Given the description of an element on the screen output the (x, y) to click on. 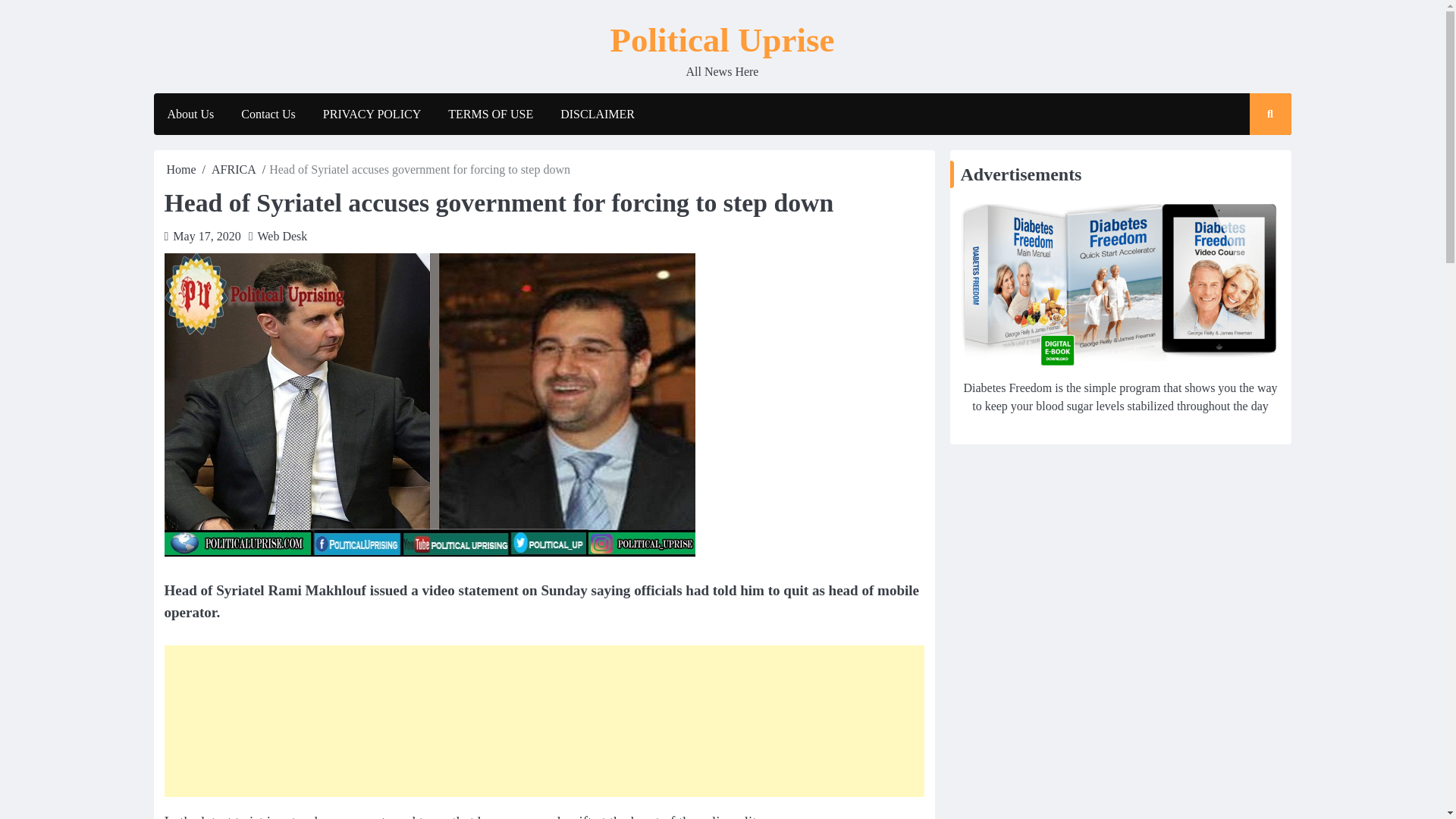
May 17, 2020 (206, 236)
Home (181, 169)
Advertisement (543, 720)
PRIVACY POLICY (370, 114)
DISCLAIMER (597, 114)
About Us (189, 114)
Contact Us (267, 114)
Political Uprise (722, 39)
AFRICA (233, 169)
Web Desk (282, 236)
